Given the description of an element on the screen output the (x, y) to click on. 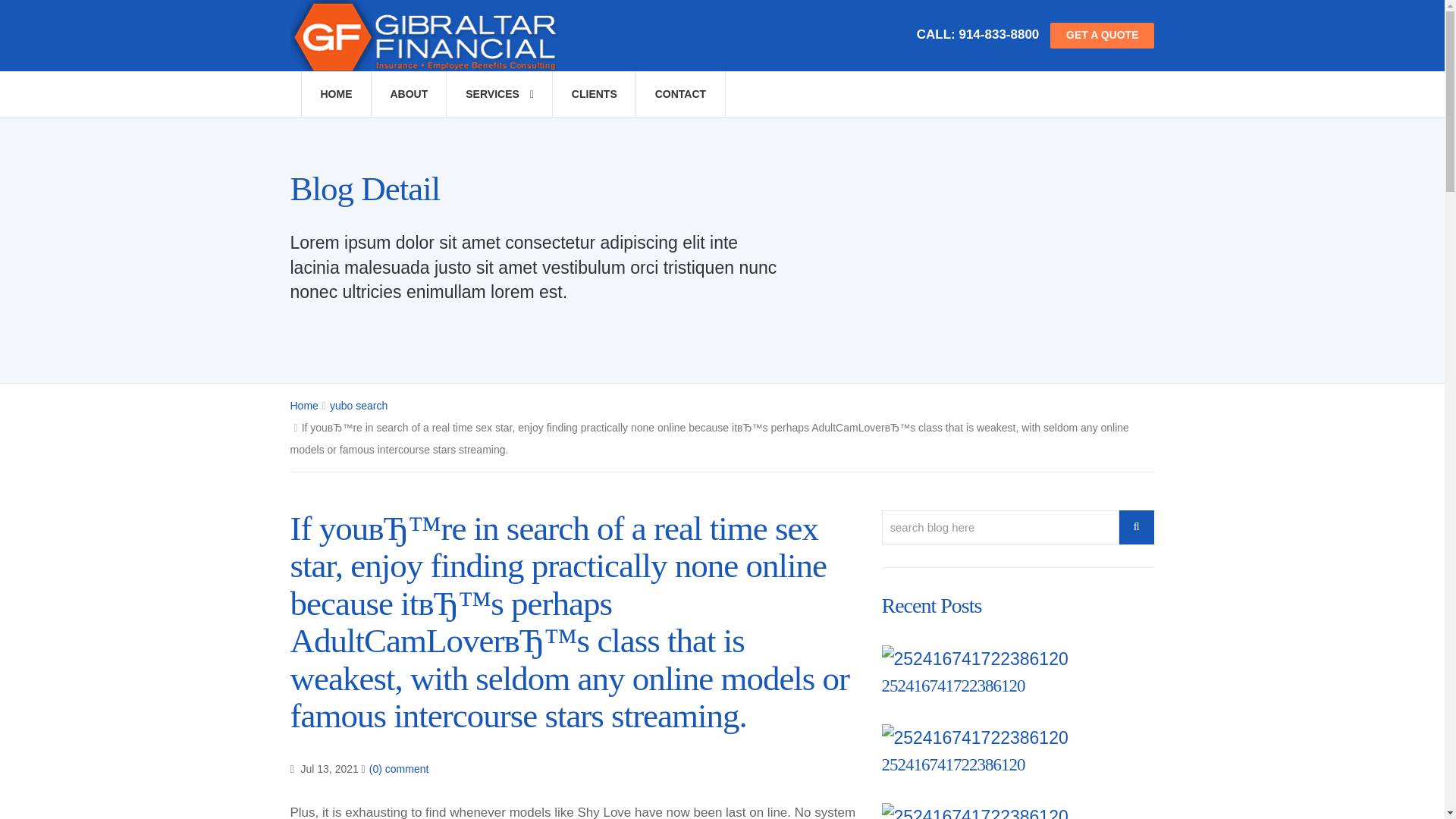
HOME (335, 94)
252416741722386120 (952, 685)
SERVICES (499, 94)
CONTACT (679, 94)
CLIENTS (593, 94)
Home (303, 405)
252416741722386120 (952, 764)
yubo search (358, 405)
Home (335, 94)
About (407, 94)
